Given the description of an element on the screen output the (x, y) to click on. 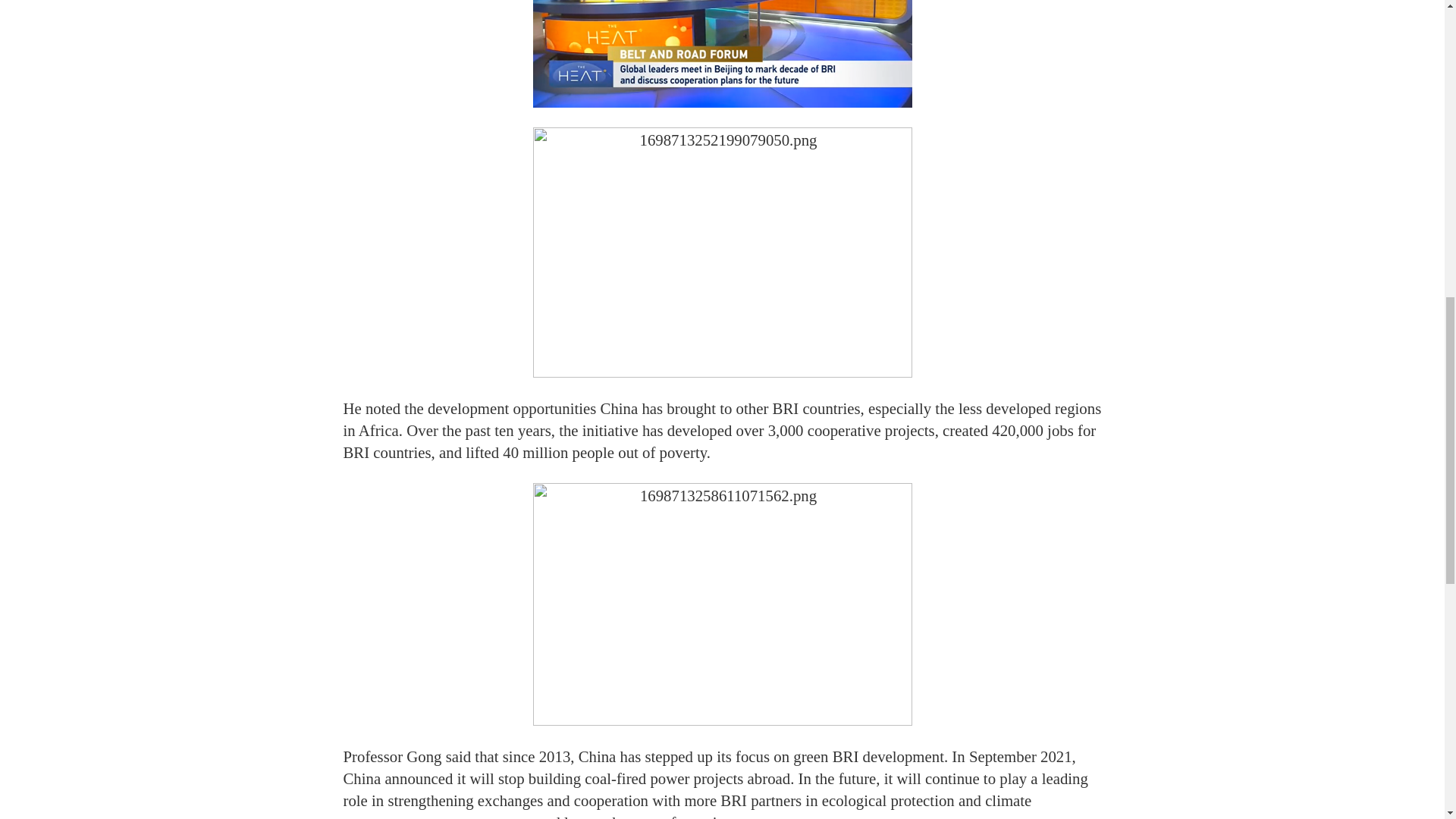
1698713258611071562.png (721, 604)
1698713238818075189.png (721, 53)
1698713252199079050.png (721, 252)
